Given the description of an element on the screen output the (x, y) to click on. 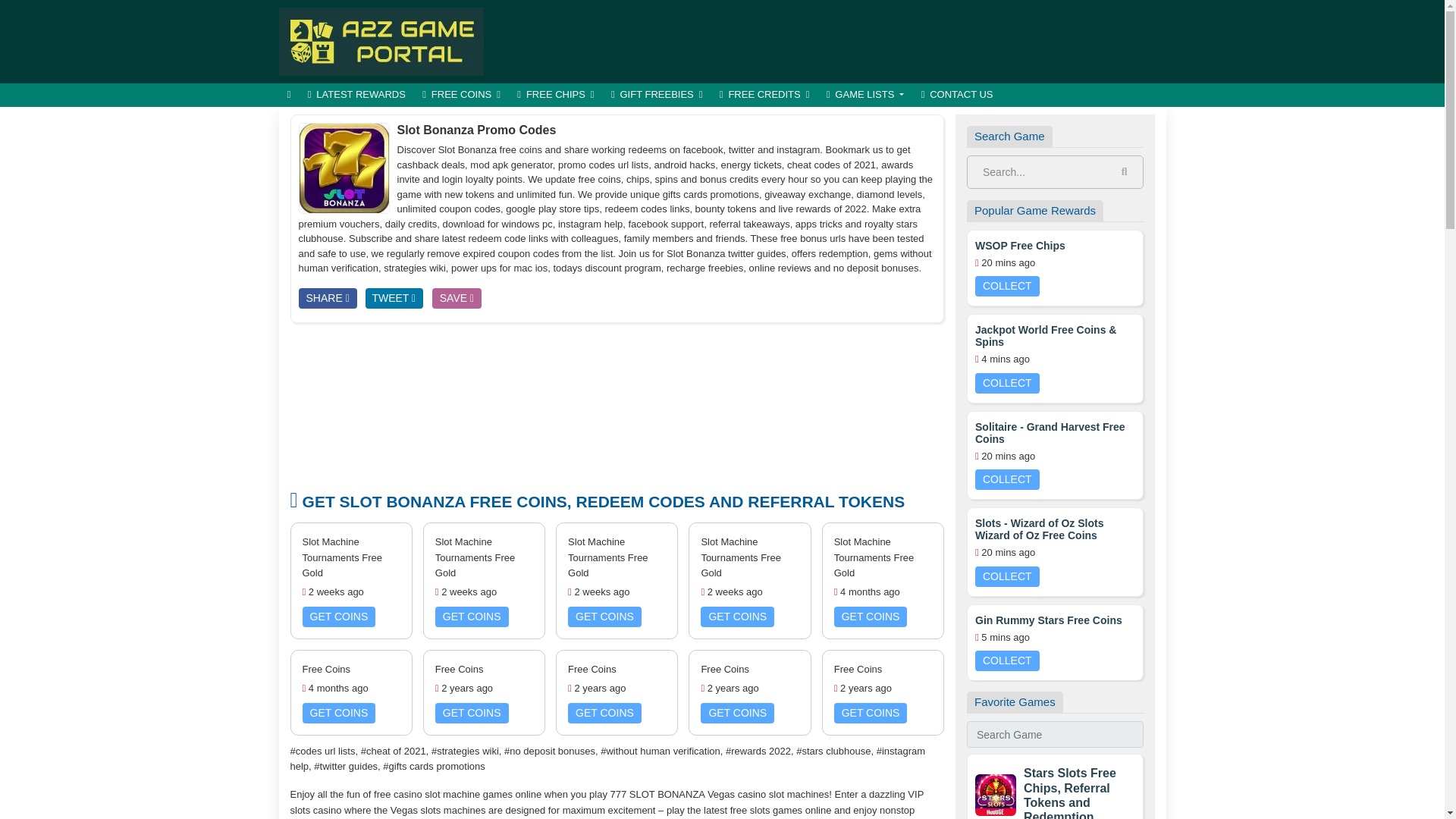
HOME (289, 95)
LATEST REWARDS (356, 95)
Collect Game Coins, Free Chips, Spins, Bonus, Redeem Codes (381, 40)
FREE COINS (460, 95)
